Given the description of an element on the screen output the (x, y) to click on. 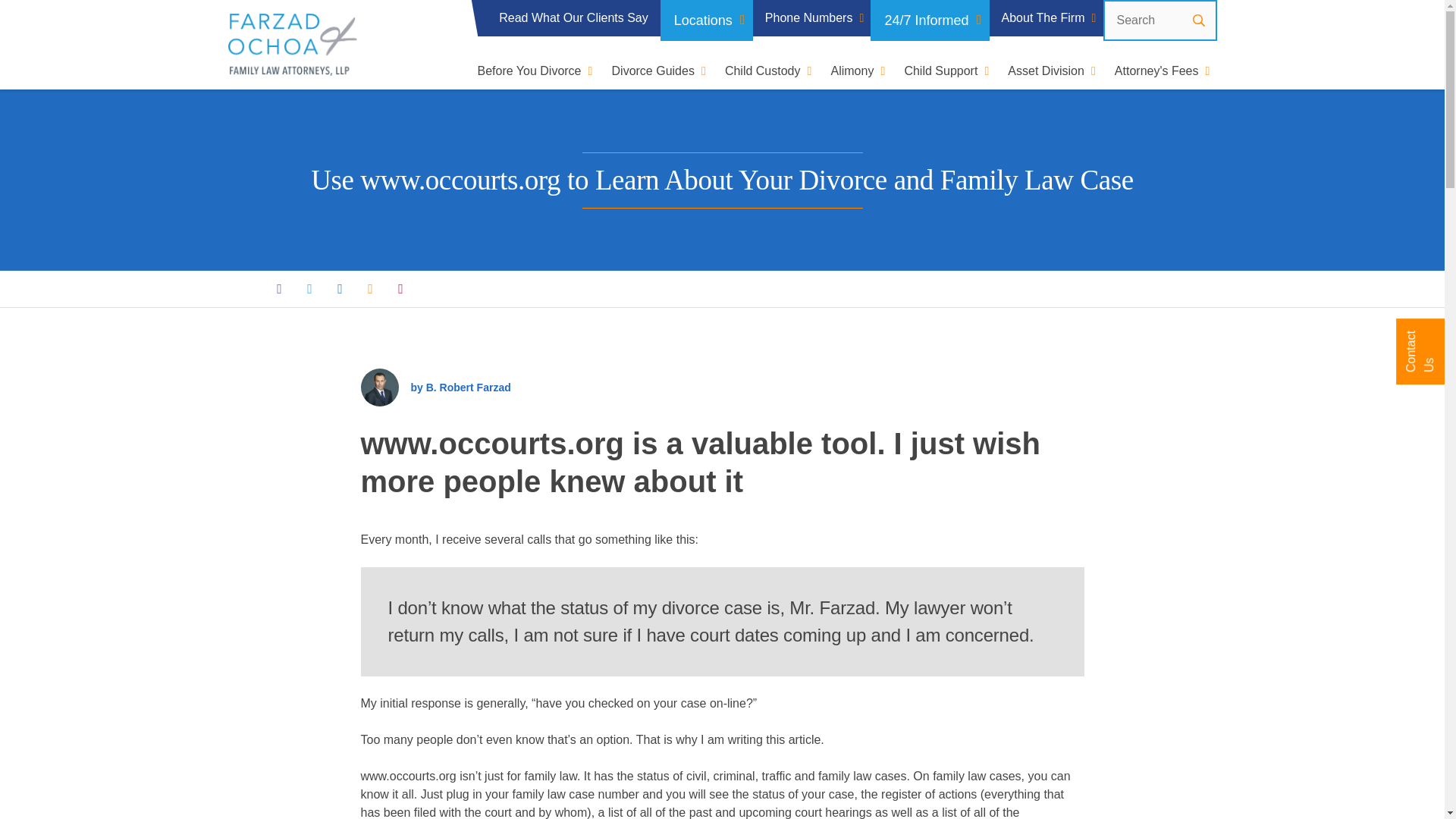
Read What Our Clients Say (573, 18)
Phone Numbers (811, 18)
Locations (706, 20)
About The Firm (1046, 18)
